Given the description of an element on the screen output the (x, y) to click on. 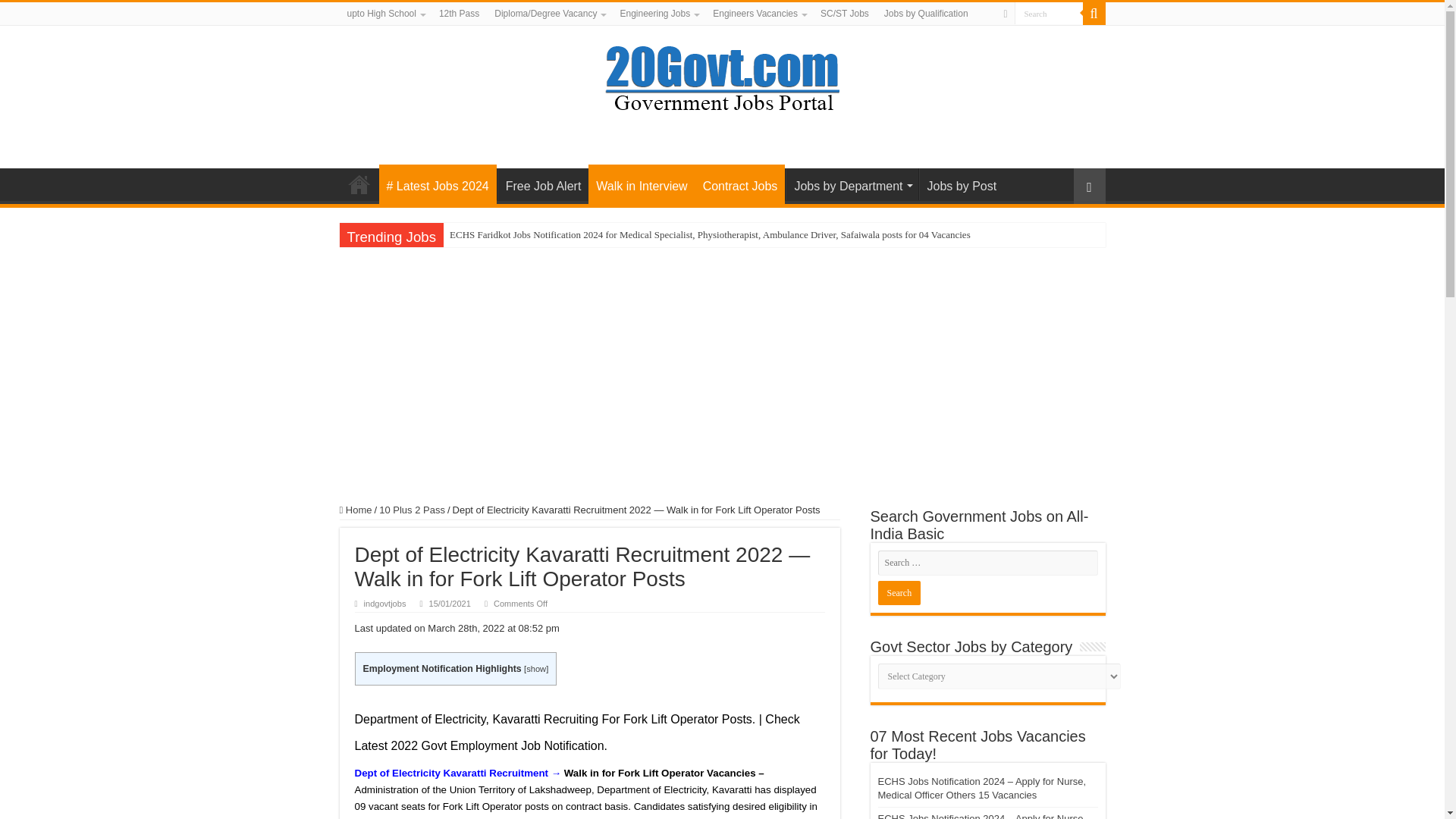
Search (1048, 13)
Search (899, 592)
Search (899, 592)
Search (1048, 13)
